Given the description of an element on the screen output the (x, y) to click on. 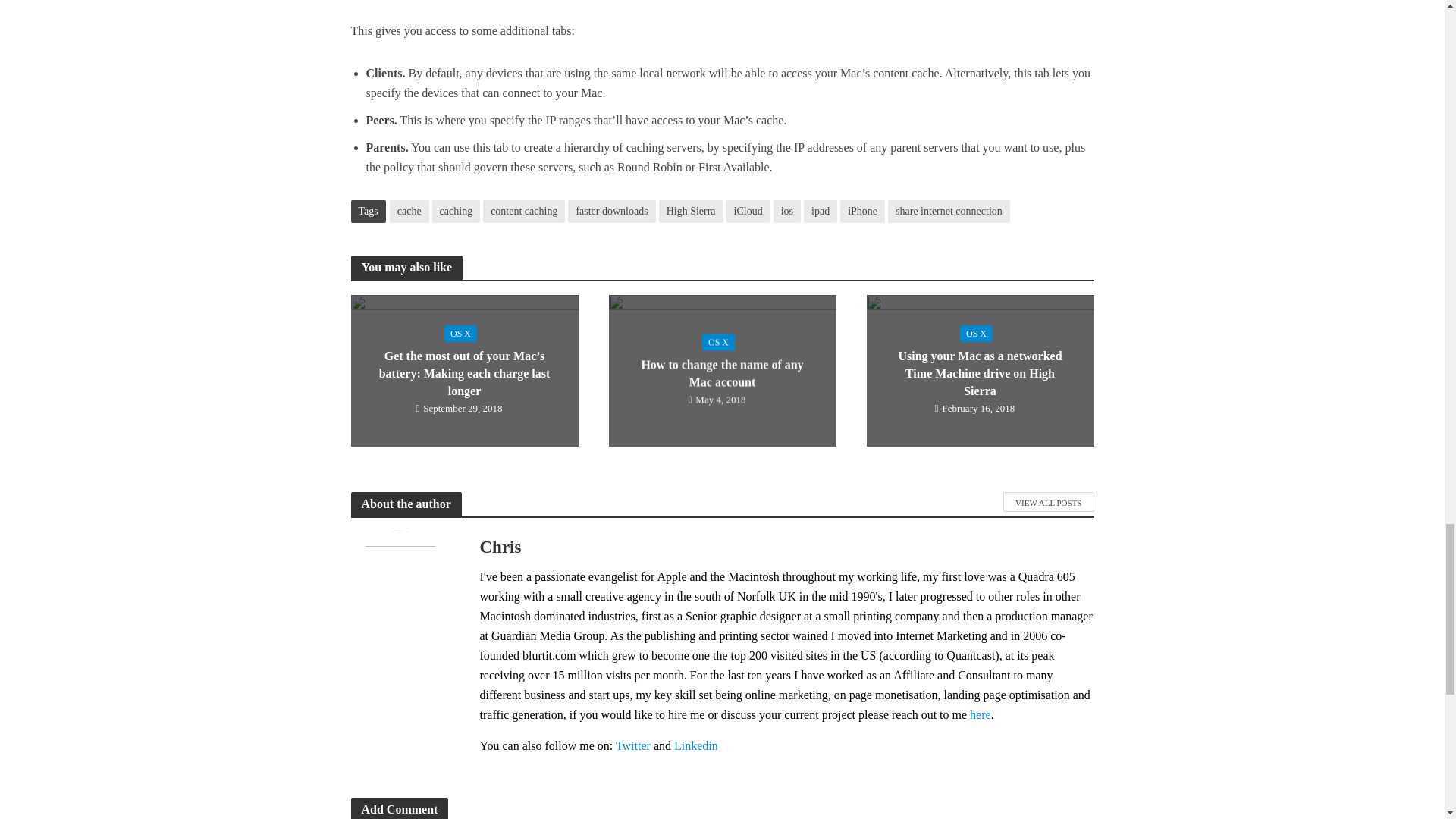
OS X (718, 341)
content caching (523, 210)
cache (409, 210)
iPhone (862, 210)
share internet connection (949, 210)
OS X (460, 333)
caching (456, 210)
How to change the name of any Mac account (721, 368)
faster downloads (611, 210)
ipad (820, 210)
ios (786, 210)
iCloud (748, 210)
High Sierra (691, 210)
